Given the description of an element on the screen output the (x, y) to click on. 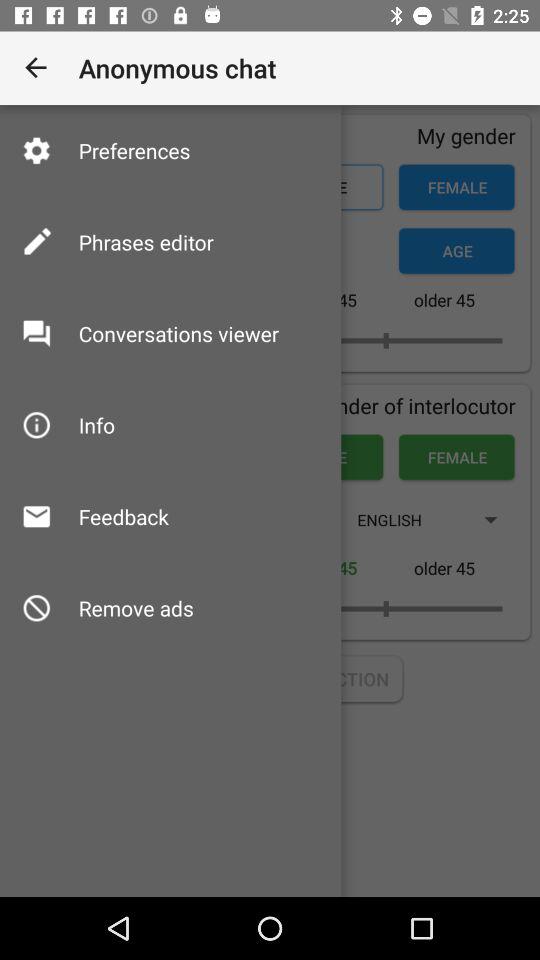
turn off icon above phrases editor item (134, 150)
